Given the description of an element on the screen output the (x, y) to click on. 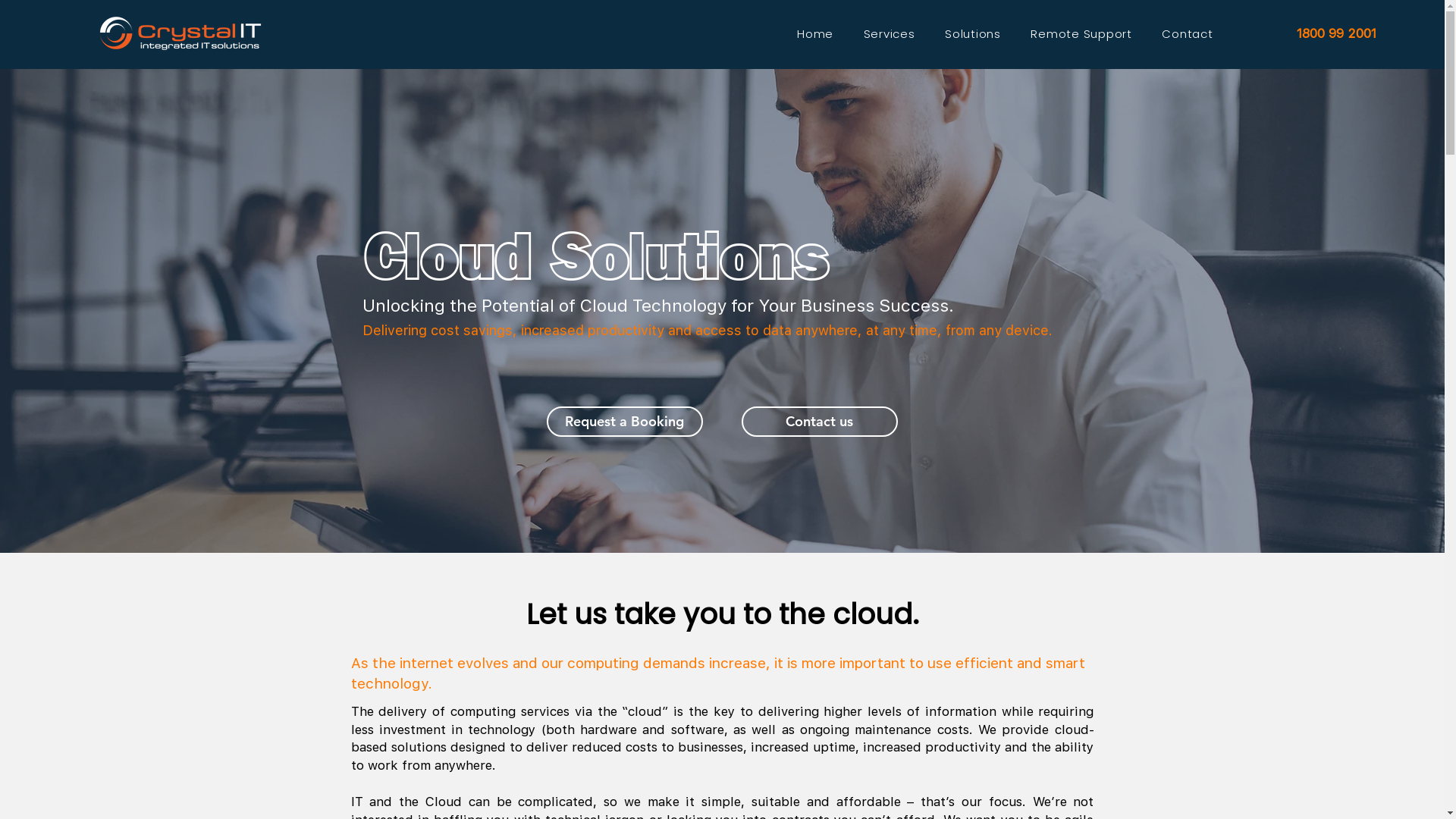
Home Element type: text (814, 33)
Remote Support Element type: text (1081, 33)
Contact us Element type: text (819, 421)
Request a Booking Element type: text (624, 421)
1800 99 2001 Element type: text (1336, 33)
